Given the description of an element on the screen output the (x, y) to click on. 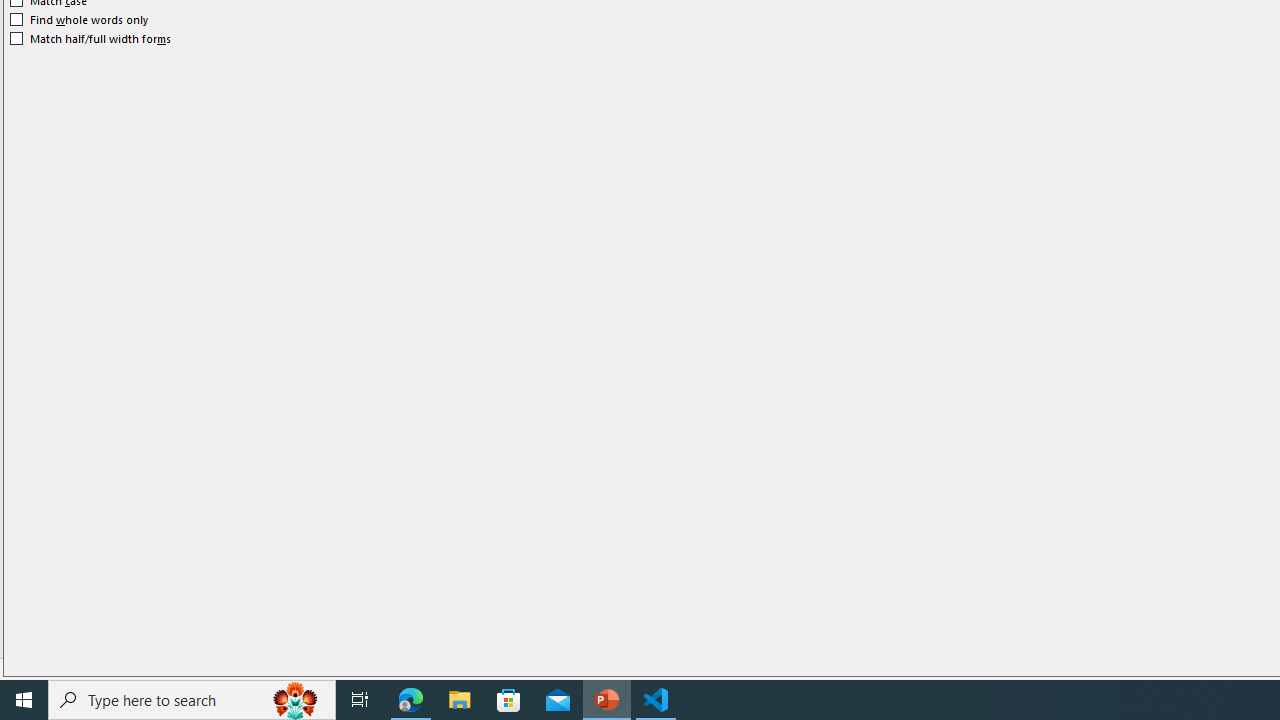
Find whole words only (79, 20)
Match half/full width forms (91, 38)
